Given the description of an element on the screen output the (x, y) to click on. 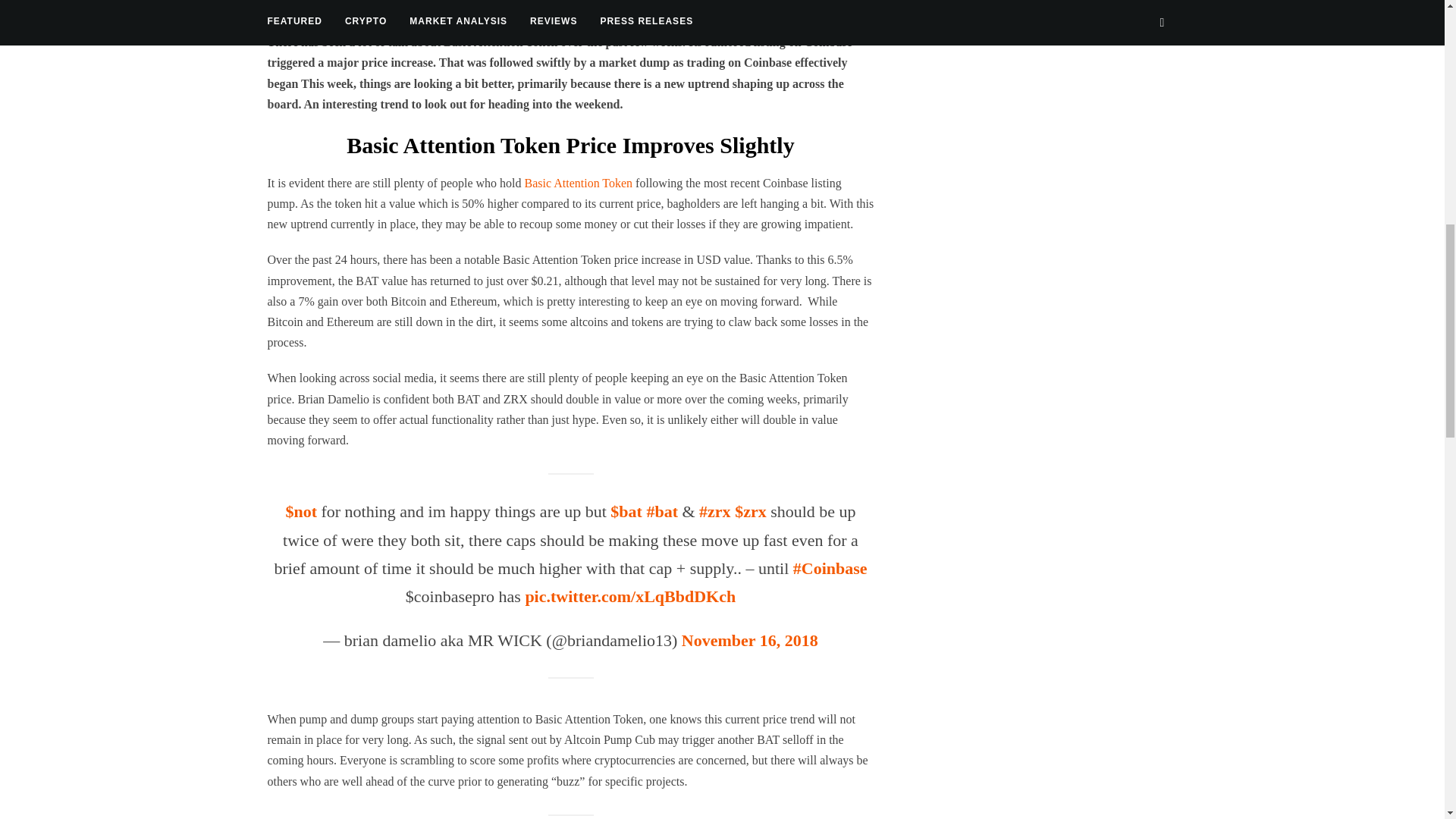
JP Buntinx (348, 4)
Basic Attention Token (580, 182)
Posts by JP Buntinx (348, 4)
November 16, 2018 (749, 640)
